Given the description of an element on the screen output the (x, y) to click on. 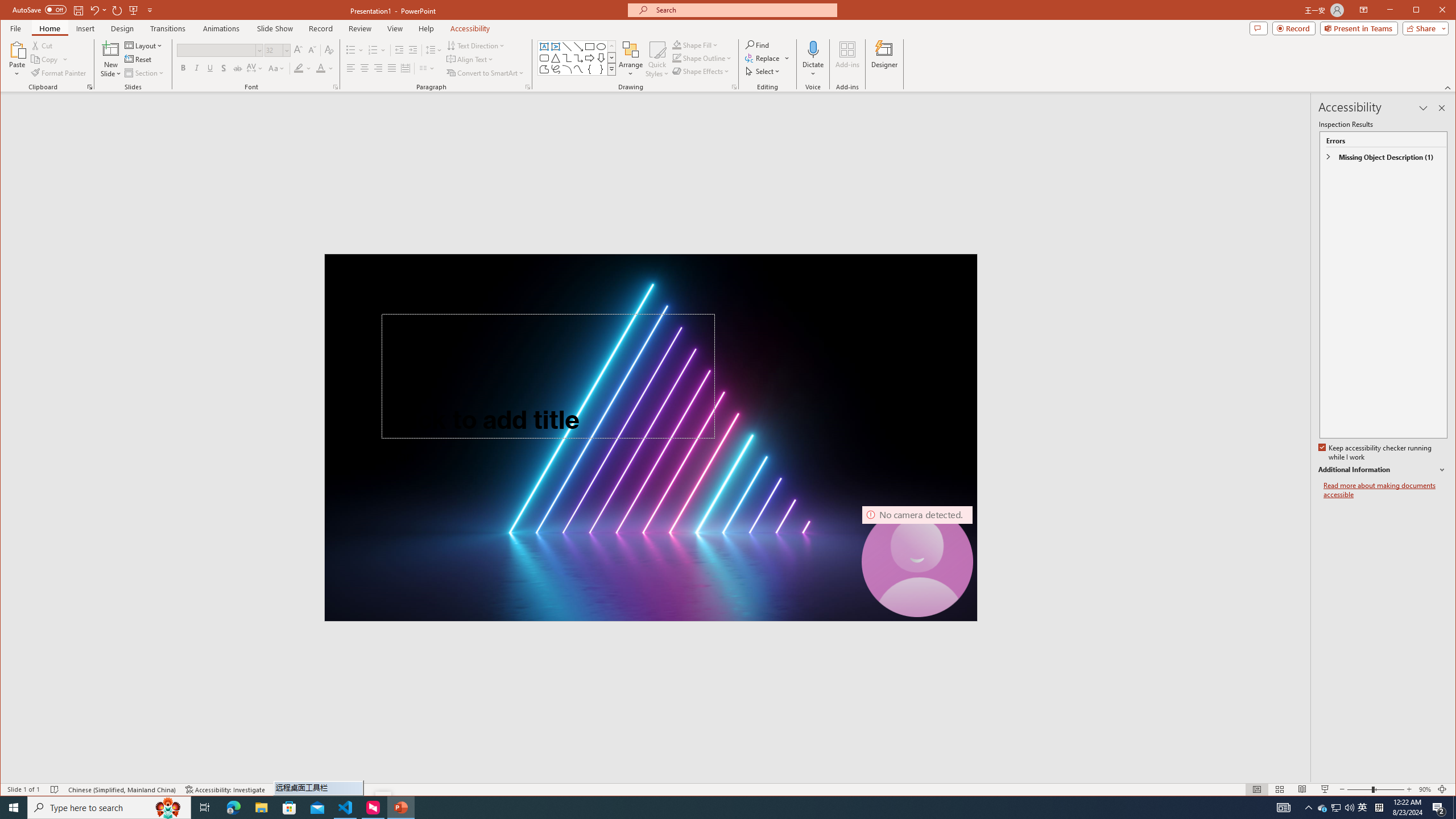
Freeform: Shape (544, 69)
Select (763, 70)
Increase Indent (412, 49)
Align Left (350, 68)
Shape Fill Orange, Accent 2 (676, 44)
Arrow: Right (589, 57)
Camera 7, No camera detected. (917, 561)
Format Painter (59, 72)
